Given the description of an element on the screen output the (x, y) to click on. 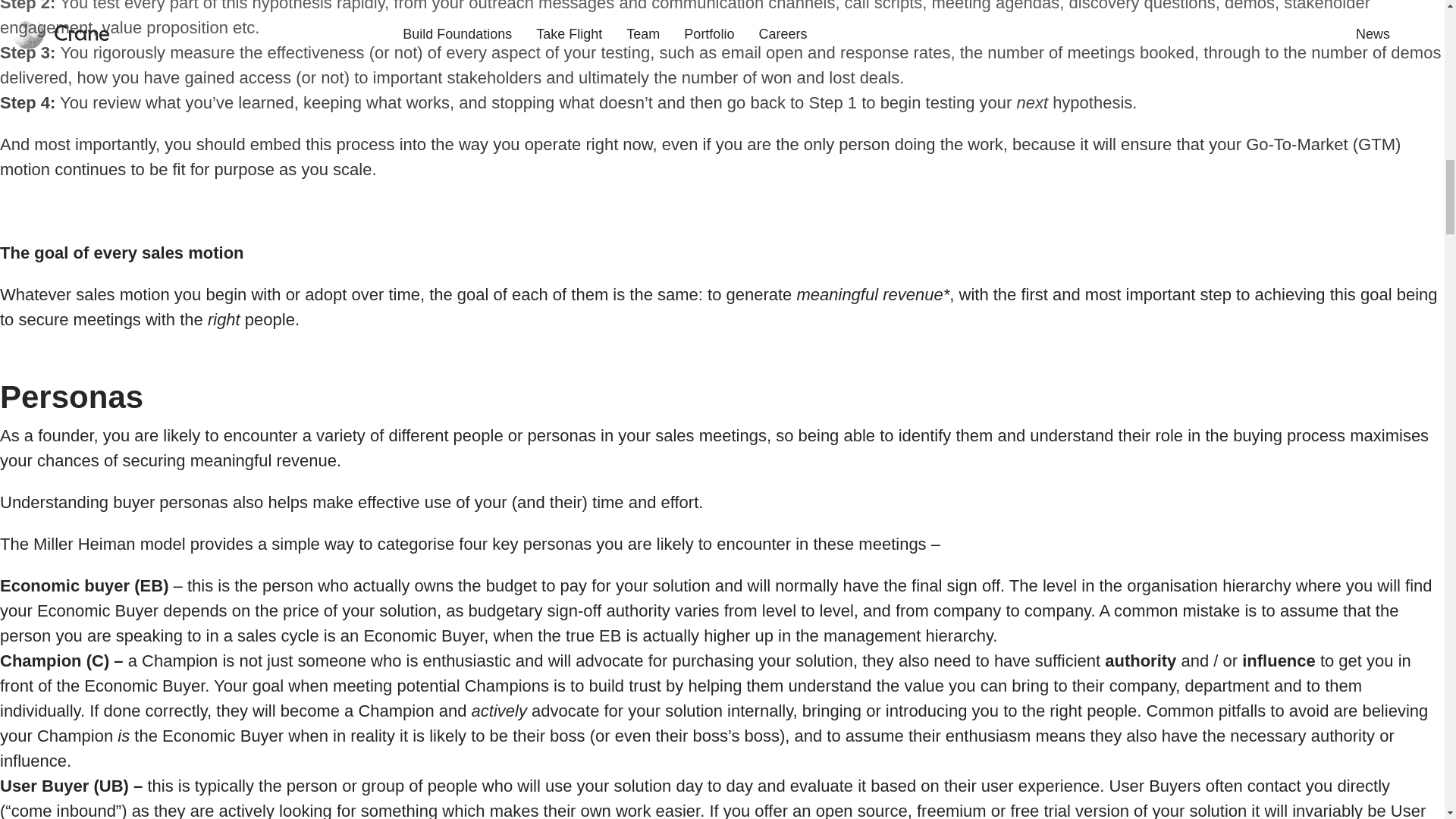
Miller Heiman (84, 543)
